Given the description of an element on the screen output the (x, y) to click on. 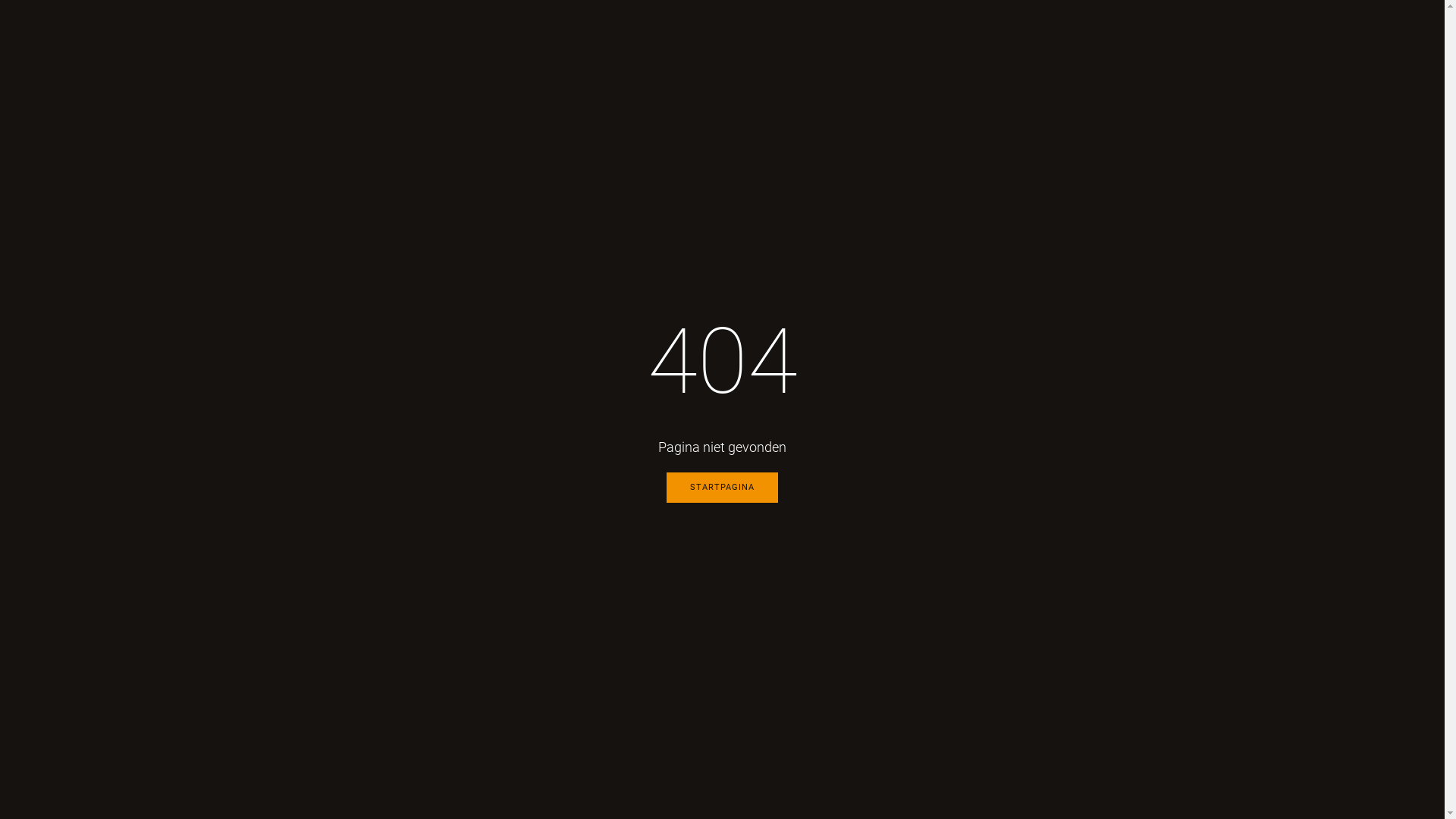
STARTPAGINA Element type: text (722, 487)
